Given the description of an element on the screen output the (x, y) to click on. 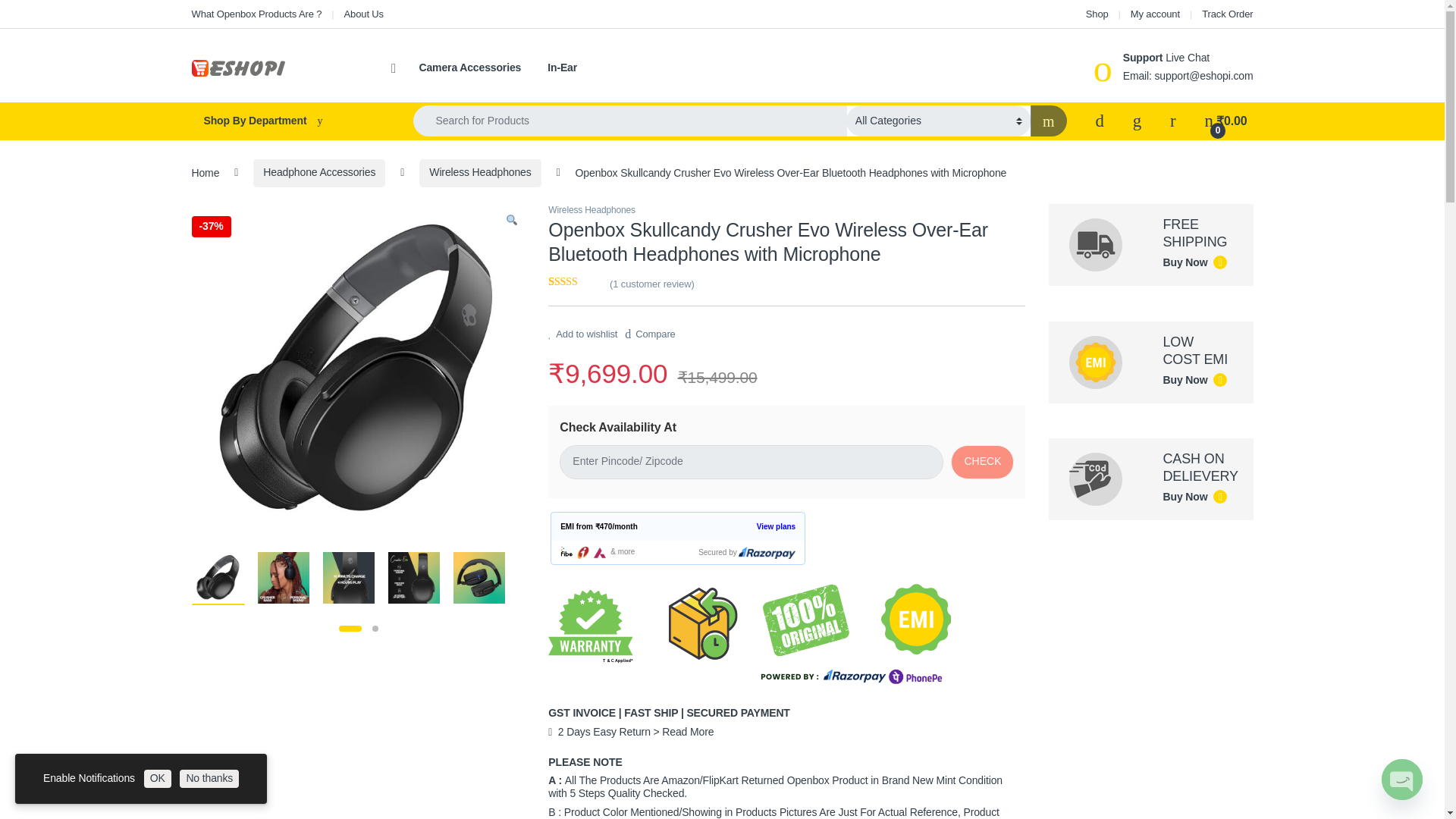
My account (1155, 13)
What Openbox Products Are ? (255, 13)
My account (1155, 13)
CHECK (981, 462)
About Us (363, 13)
Track Order (1227, 13)
What Openbox Products Are ? (255, 13)
About Us (363, 13)
Track Order (1227, 13)
